Given the description of an element on the screen output the (x, y) to click on. 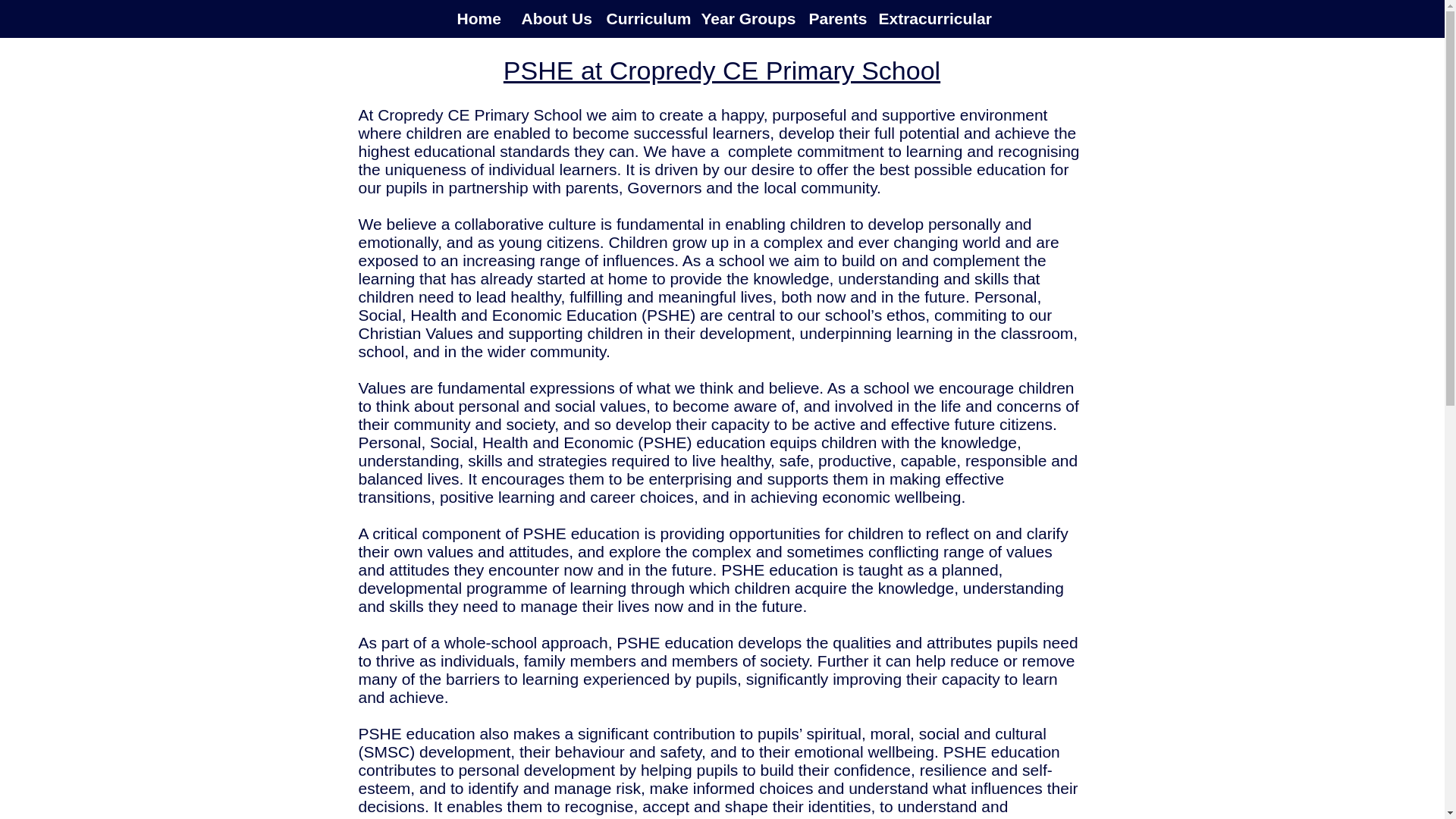
Home (477, 18)
Parents (831, 18)
Year Groups (743, 18)
About Us (551, 18)
